Given the description of an element on the screen output the (x, y) to click on. 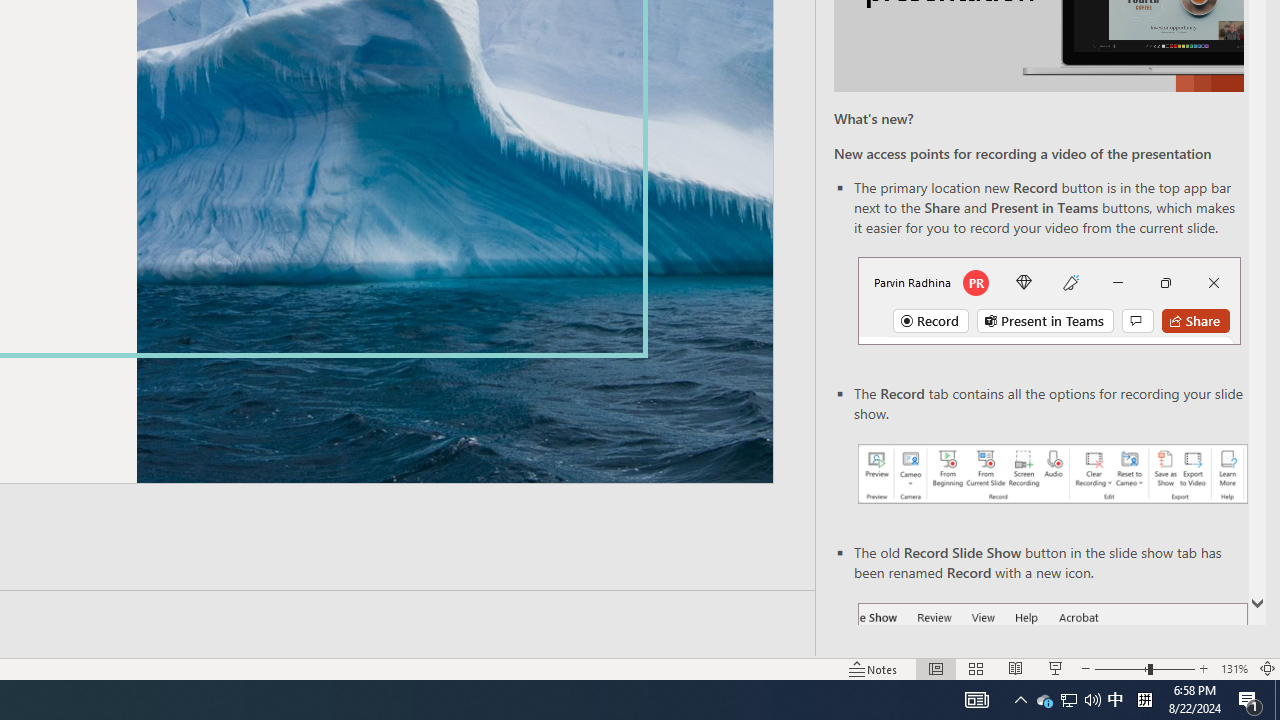
Record your presentations screenshot one (1052, 473)
Record button in top bar (1049, 300)
Zoom 131% (1234, 668)
